Given the description of an element on the screen output the (x, y) to click on. 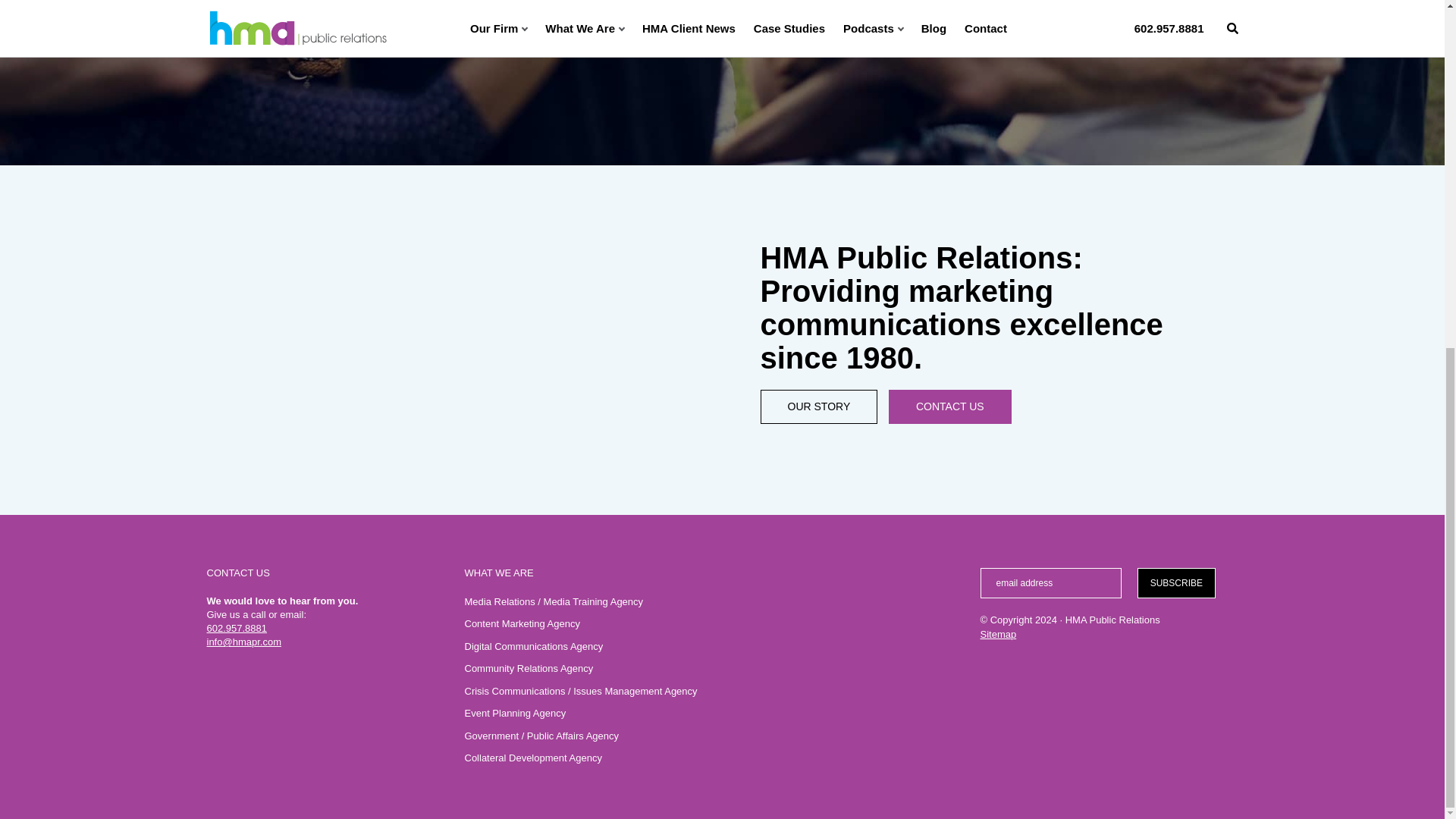
Subscribe (1175, 583)
Community Relations Agency (528, 668)
Event Planning Agency (515, 713)
Digital Communications Agency (533, 645)
Content Marketing Agency (521, 623)
CONTACT US (949, 407)
602.957.8881 (236, 627)
OUR STORY (818, 407)
